Given the description of an element on the screen output the (x, y) to click on. 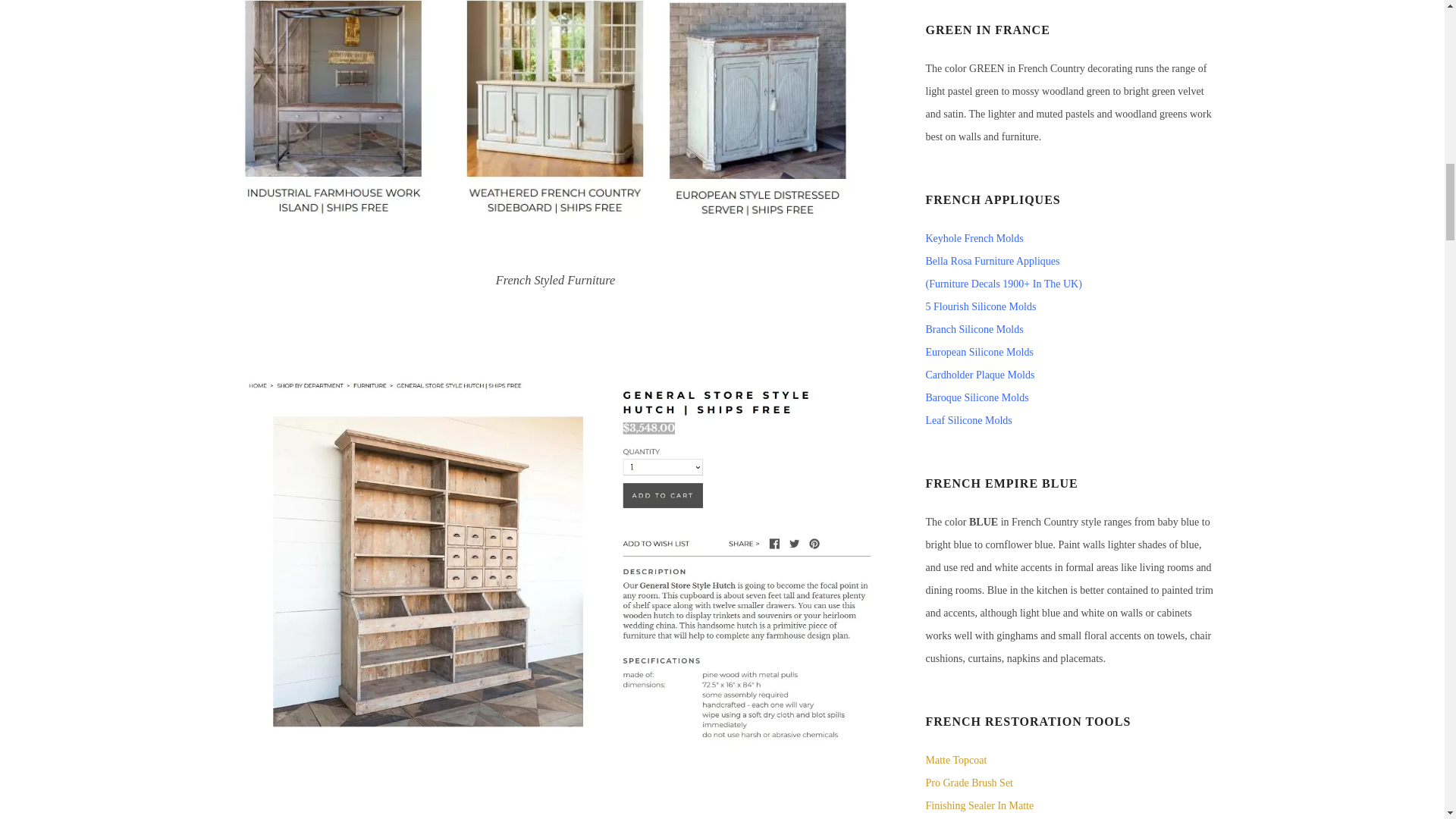
5 Flourish Silicone Molds (979, 306)
Keyhole French Molds (973, 238)
Bella Rosa Furniture Appliques (991, 260)
Branch Silicone Molds (973, 328)
